Given the description of an element on the screen output the (x, y) to click on. 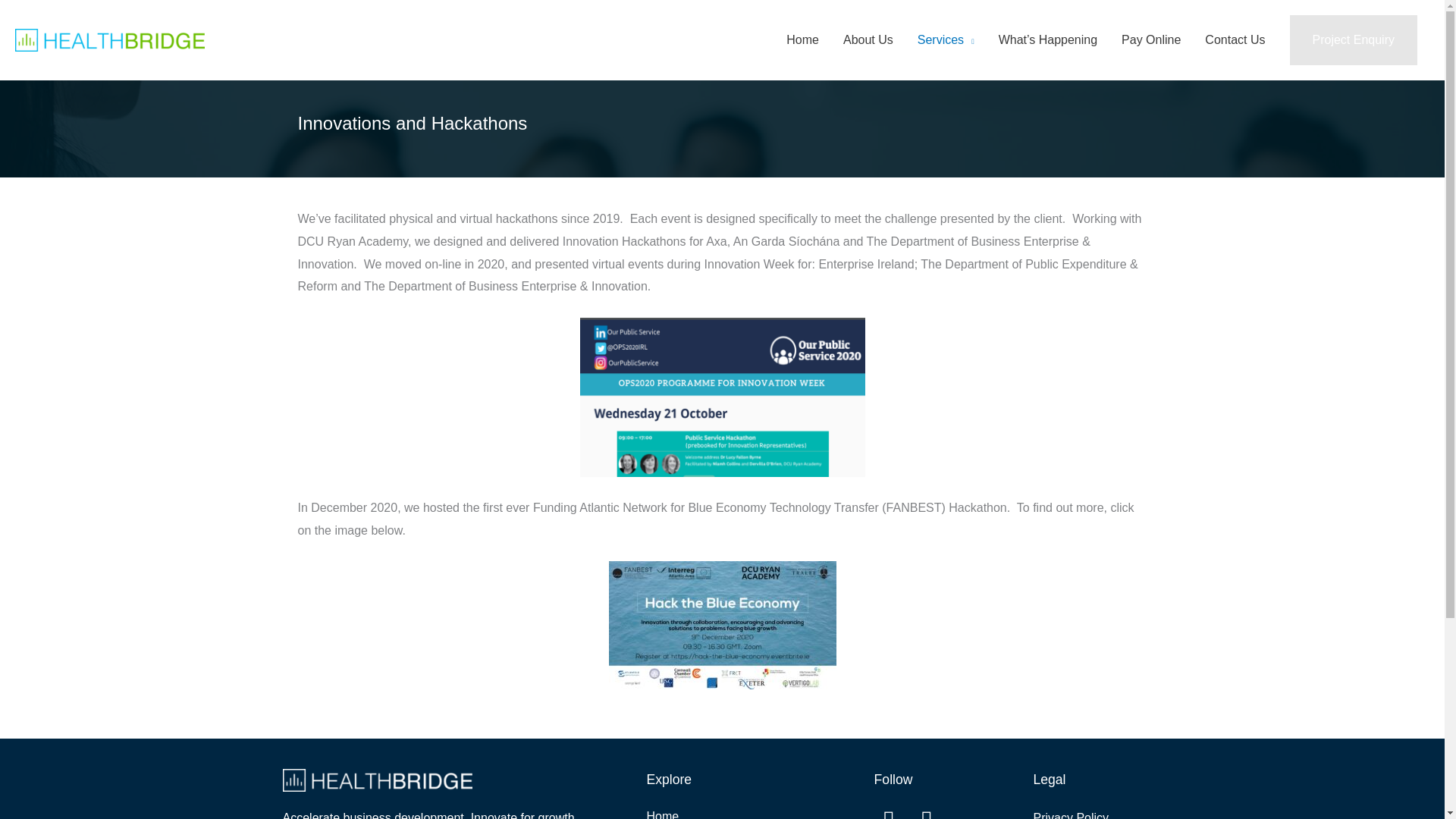
Services (946, 40)
Pay Online (1150, 40)
Home (744, 812)
Project Enquiry (1352, 40)
About Us (868, 40)
Contact Us (1234, 40)
Home (802, 40)
logo2x-white (376, 780)
Privacy Policy (1070, 815)
